Given the description of an element on the screen output the (x, y) to click on. 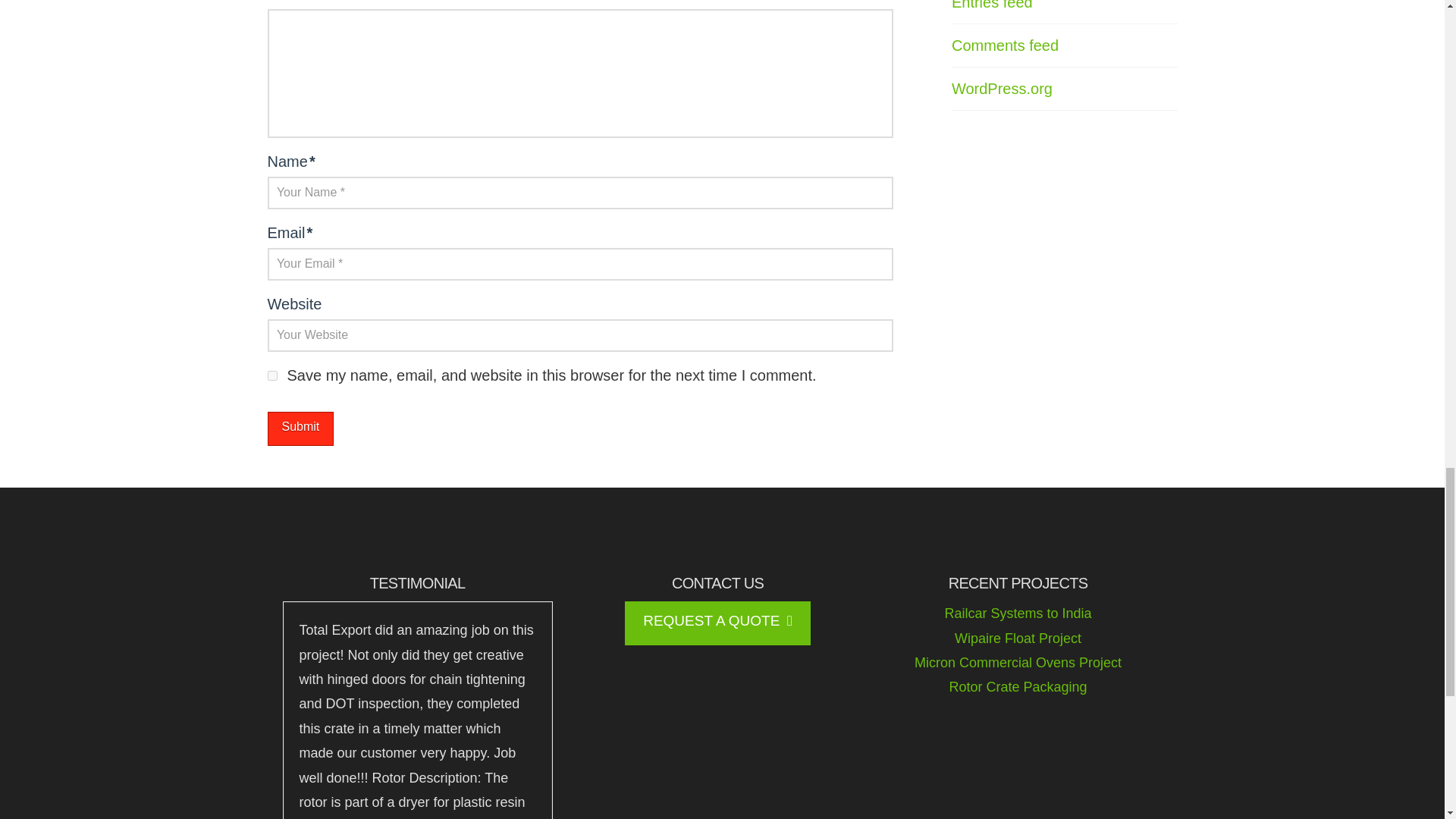
Submit (299, 428)
yes (271, 375)
Submit (299, 428)
